Given the description of an element on the screen output the (x, y) to click on. 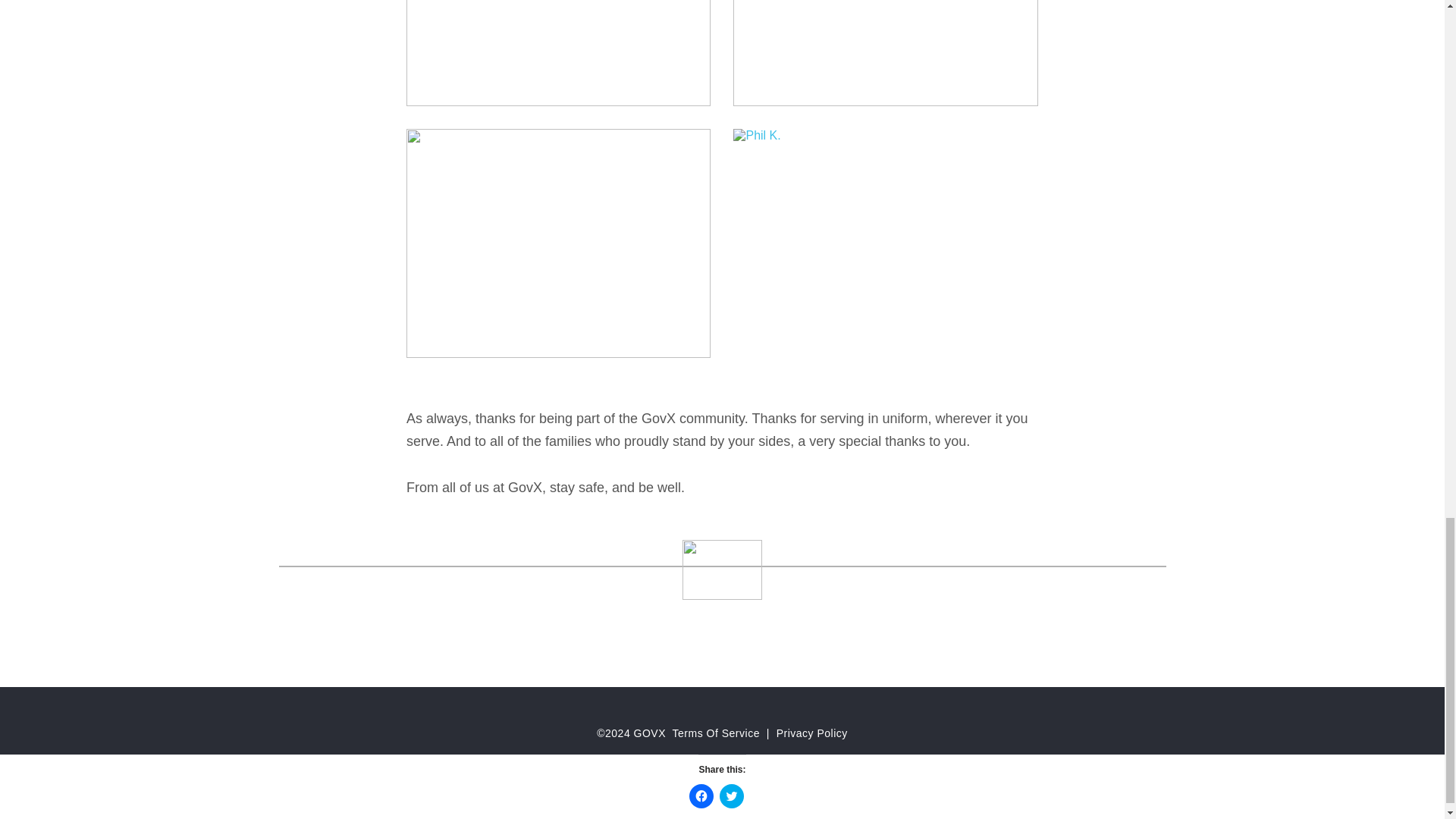
Click to share on Twitter (730, 795)
Click to share on Facebook (700, 795)
